Given the description of an element on the screen output the (x, y) to click on. 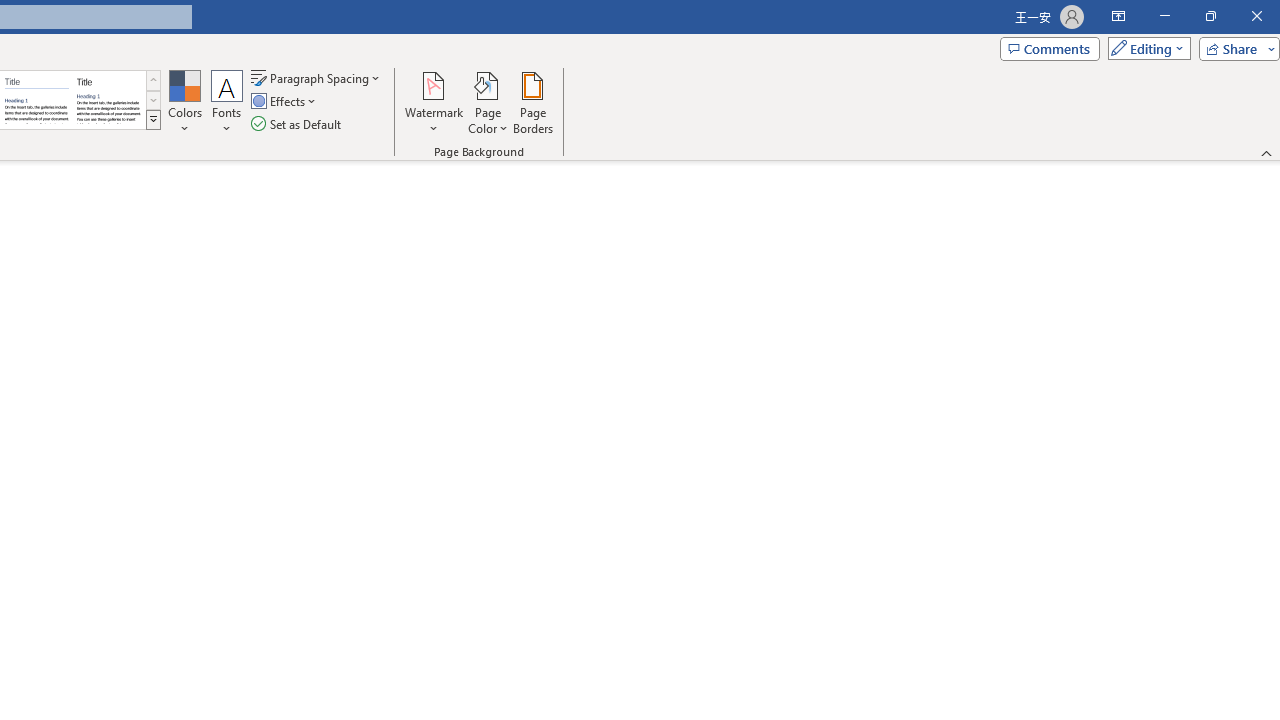
Colors (184, 102)
Page Borders... (532, 102)
Effects (285, 101)
Fonts (227, 102)
